Given the description of an element on the screen output the (x, y) to click on. 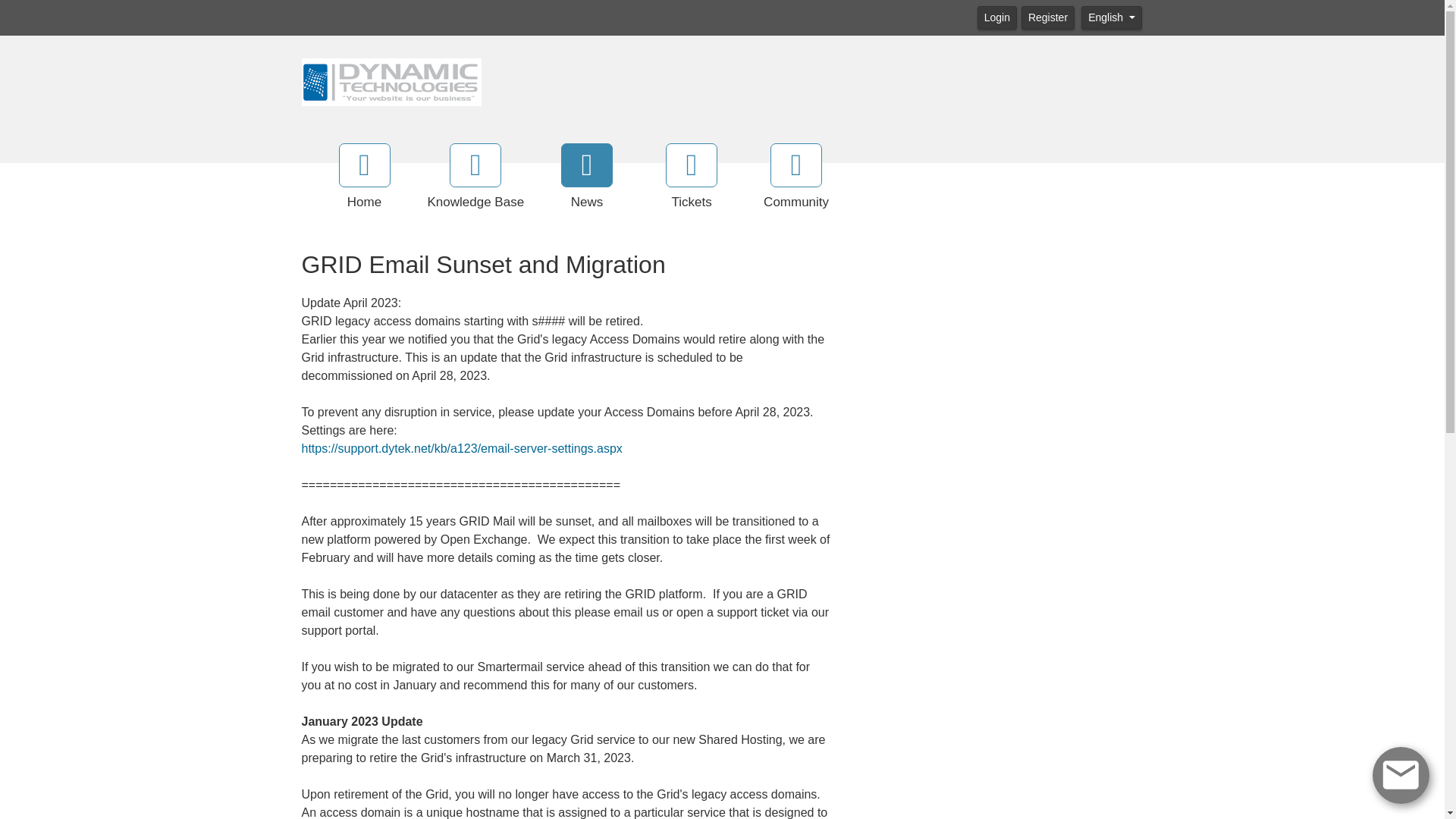
Tickets (691, 177)
News (586, 177)
Leave us a message! (1401, 774)
Dynamic Technologies (391, 80)
Community (796, 177)
Login (996, 17)
English (1111, 17)
Register (1048, 17)
Knowledge Base (476, 177)
Home (364, 177)
